Given the description of an element on the screen output the (x, y) to click on. 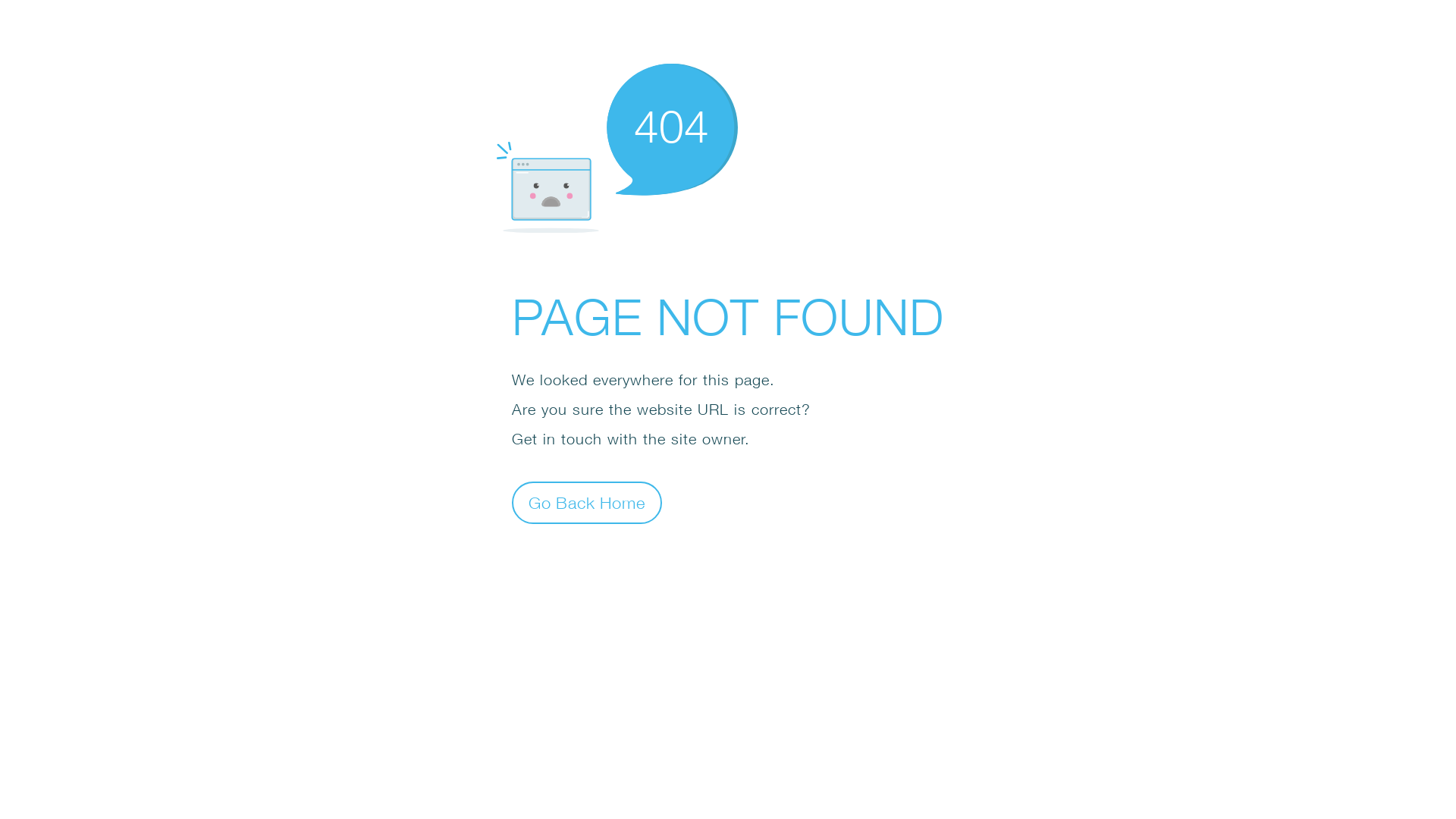
Go Back Home Element type: text (586, 502)
